Given the description of an element on the screen output the (x, y) to click on. 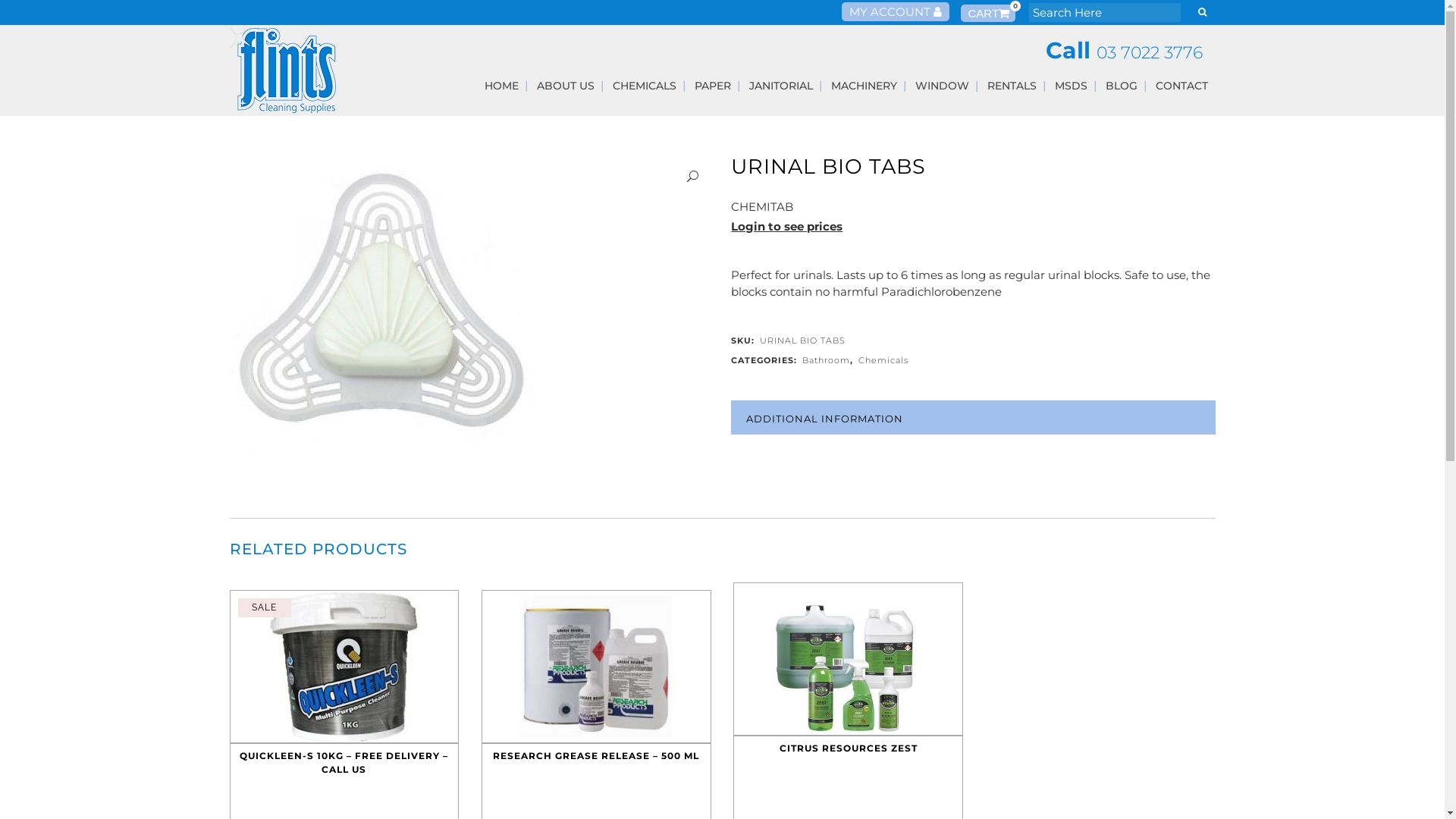
CONTACT Element type: text (1181, 85)
HOME Element type: text (500, 85)
Chemicals Element type: text (883, 359)
PAPER Element type: text (712, 85)
0 Element type: text (987, 12)
JANITORIAL Element type: text (780, 85)
03 7022 3776 Element type: text (1149, 52)
Bathroom Element type: text (826, 359)
BLOG Element type: text (1121, 85)
CHEMITAB Element type: text (762, 206)
224-500x500 Element type: hover (380, 305)
MY ACCOUNT Element type: text (895, 11)
WINDOW Element type: text (940, 85)
RENTALS Element type: text (1011, 85)
ABOUT US Element type: text (565, 85)
MSDS Element type: text (1070, 85)
CHEMICALS Element type: text (644, 85)
Login to see prices Element type: text (786, 226)
MACHINERY Element type: text (863, 85)
SALE Element type: text (343, 666)
